Given the description of an element on the screen output the (x, y) to click on. 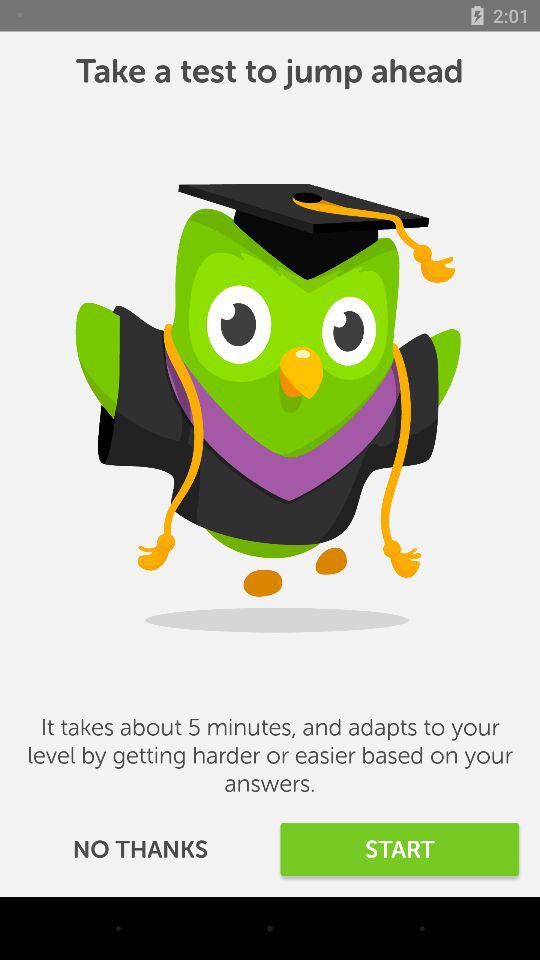
turn on the no thanks (140, 849)
